Given the description of an element on the screen output the (x, y) to click on. 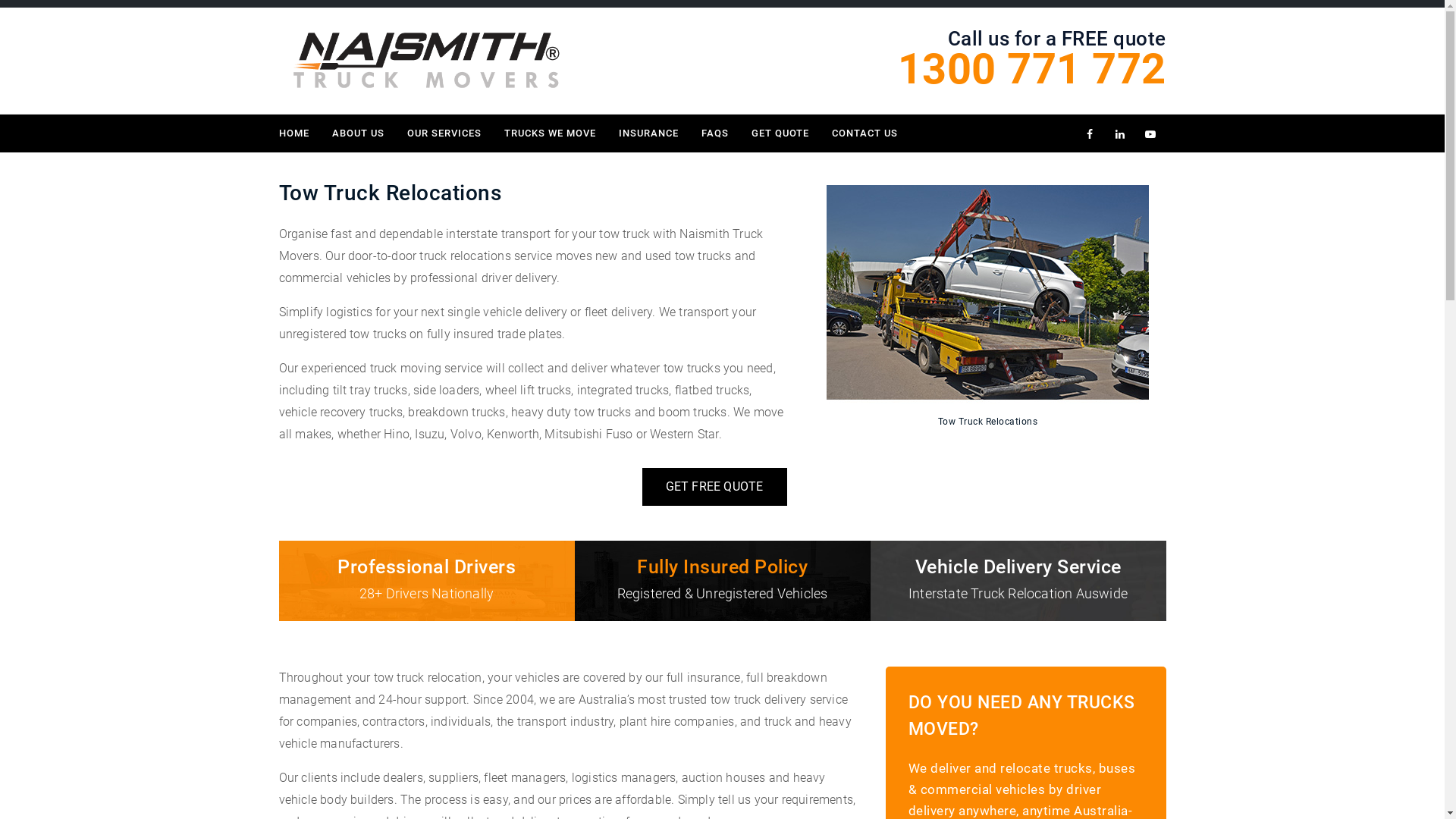
Naismith Truck Movers Element type: hover (426, 60)
1300 771 772 Element type: text (1031, 76)
GET FREE QUOTE Element type: text (714, 486)
HOME Element type: text (299, 133)
GET QUOTE Element type: text (780, 133)
CONTACT US Element type: text (864, 133)
TRUCKS WE MOVE Element type: text (549, 133)
OUR SERVICES Element type: text (443, 133)
Naismith Truck Movers Element type: hover (426, 59)
FAQS Element type: text (715, 133)
ABOUT US Element type: text (357, 133)
INSURANCE Element type: text (647, 133)
